Given the description of an element on the screen output the (x, y) to click on. 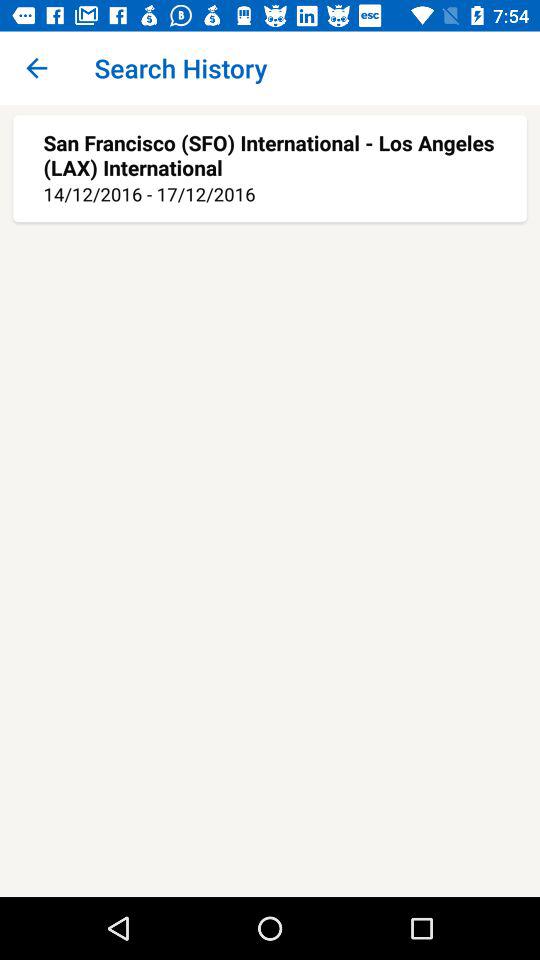
open icon at the top left corner (36, 68)
